Given the description of an element on the screen output the (x, y) to click on. 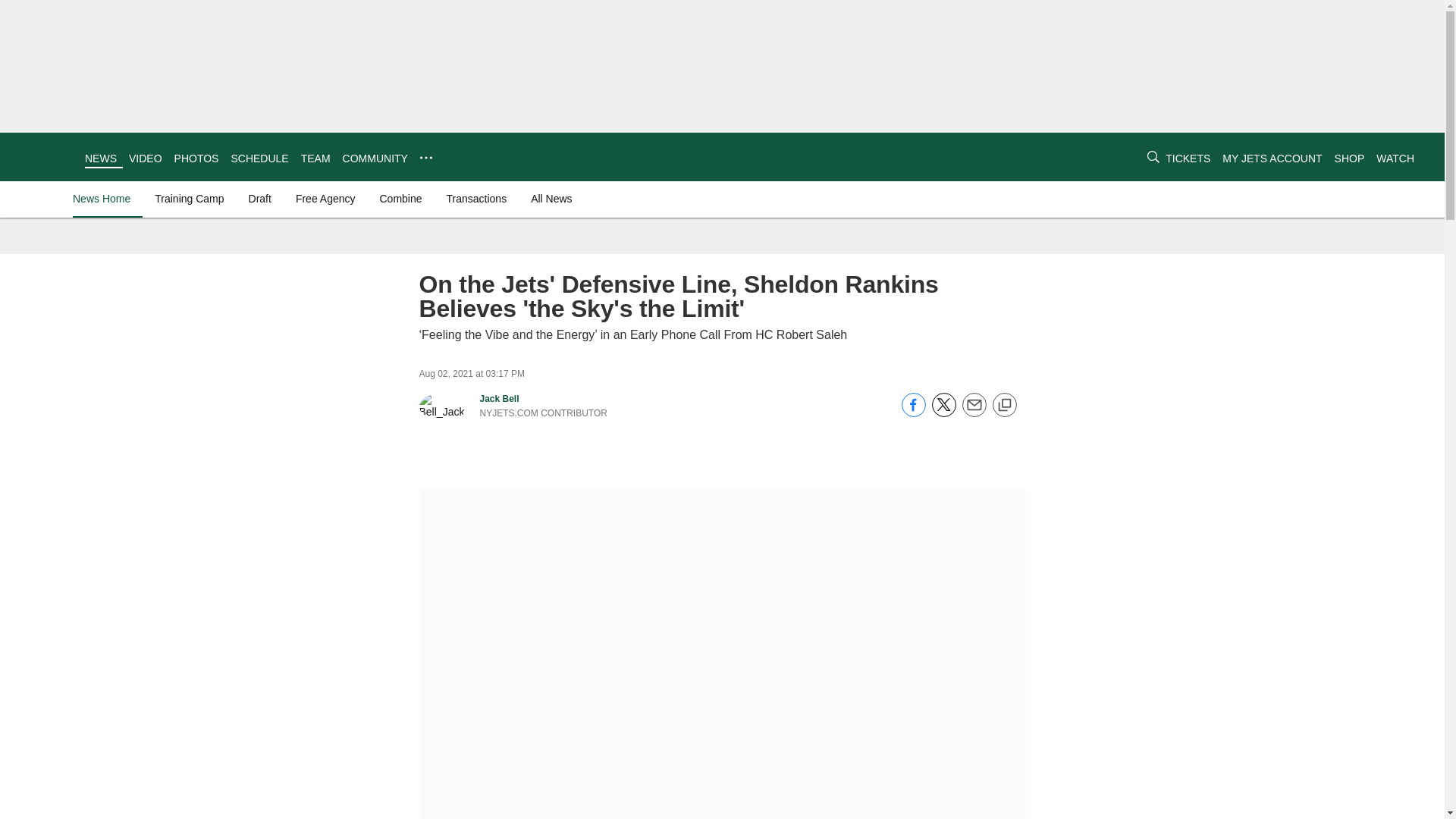
WATCH (1394, 158)
News Home (104, 198)
Free Agency (325, 198)
TEAM (315, 158)
VIDEO (145, 158)
VIDEO (145, 158)
SCHEDULE (259, 158)
Transactions (477, 198)
Link to club's homepage (42, 156)
PHOTOS (196, 158)
